Given the description of an element on the screen output the (x, y) to click on. 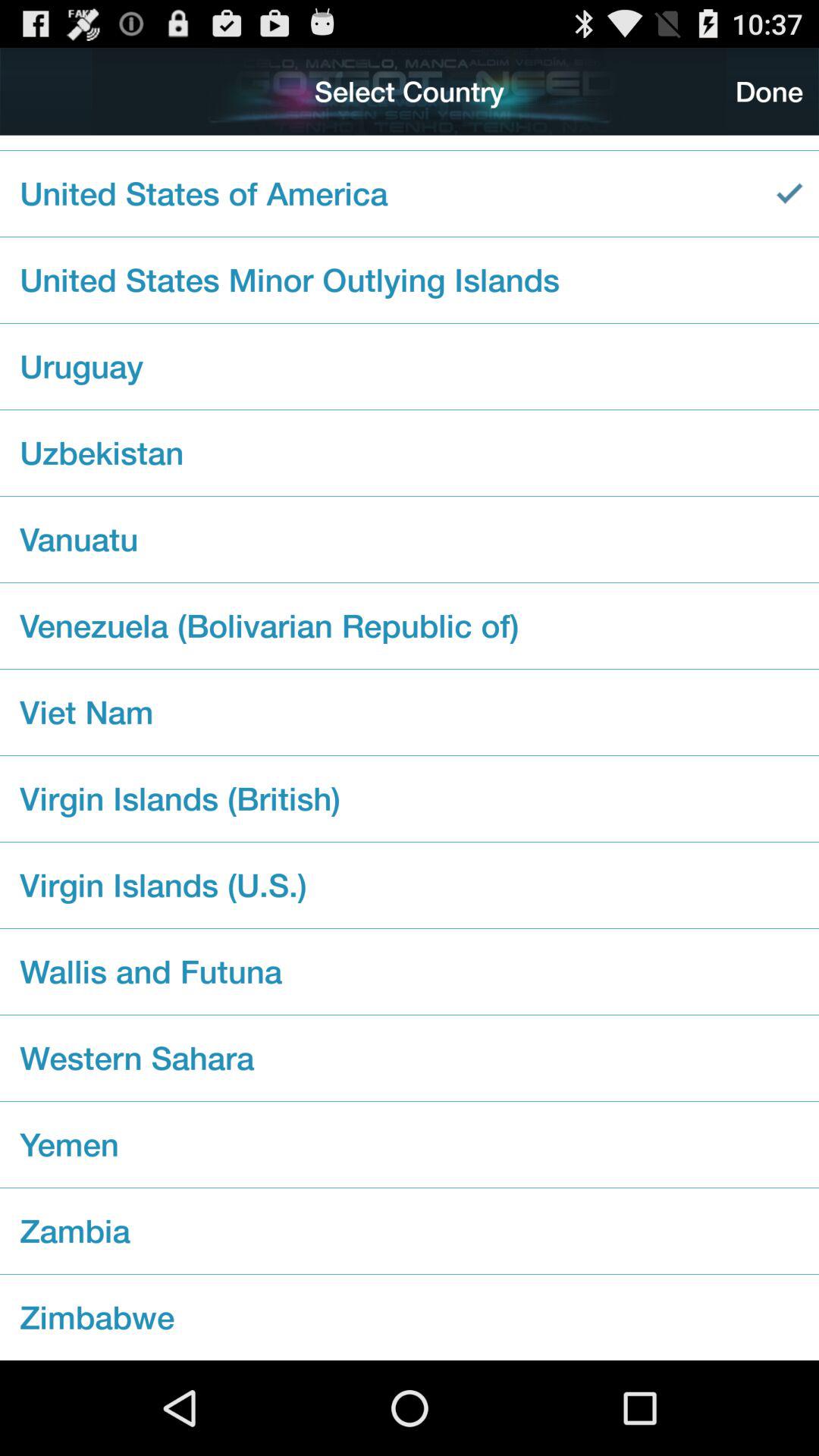
select item above zimbabwe item (409, 1231)
